Given the description of an element on the screen output the (x, y) to click on. 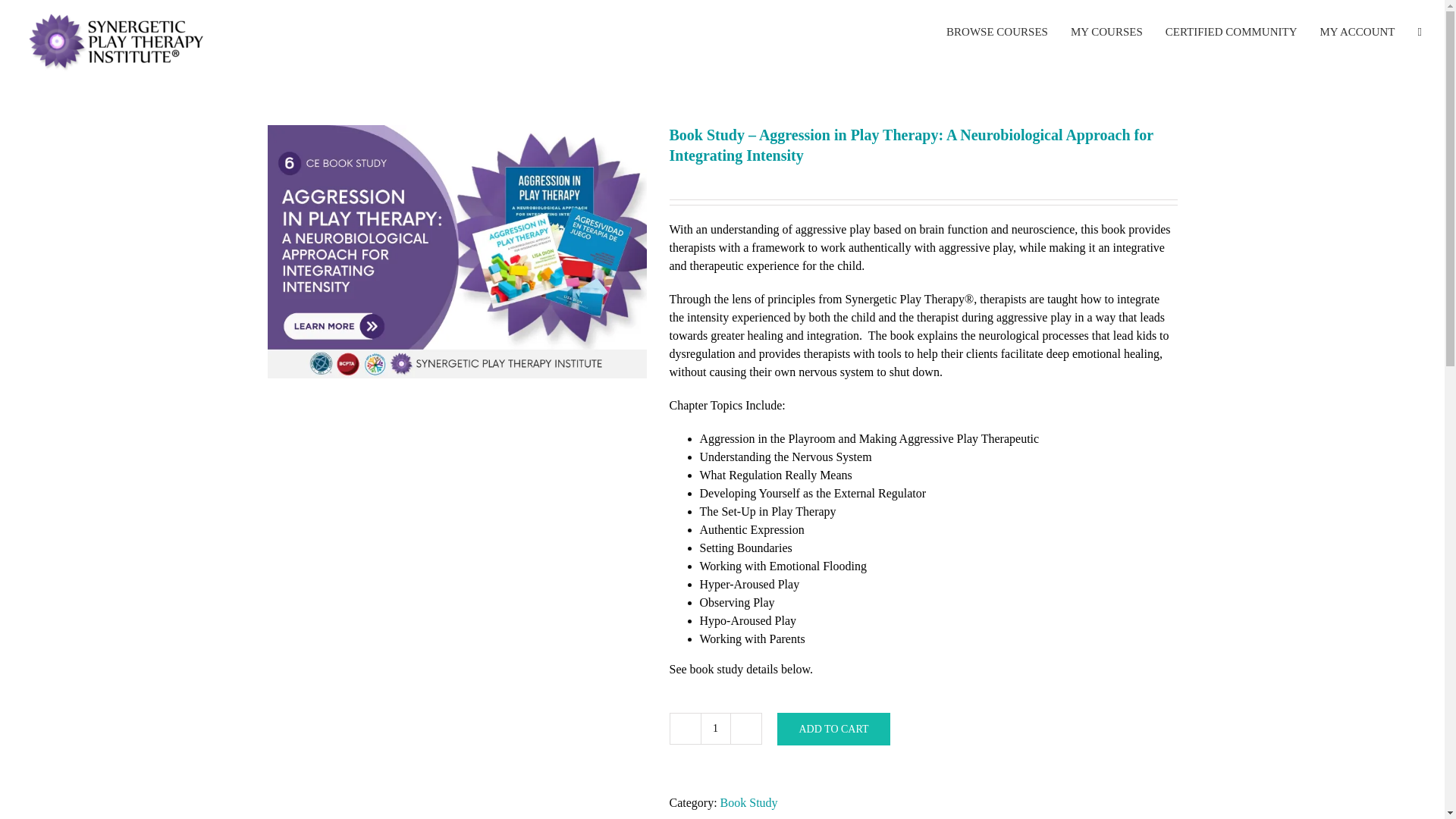
MY ACCOUNT (1356, 31)
Home Study Products - 1hr, 2hr, 3hr. (456, 251)
CERTIFIED COMMUNITY (1231, 31)
BROWSE COURSES (997, 31)
MY COURSES (1106, 31)
1 (715, 728)
